Given the description of an element on the screen output the (x, y) to click on. 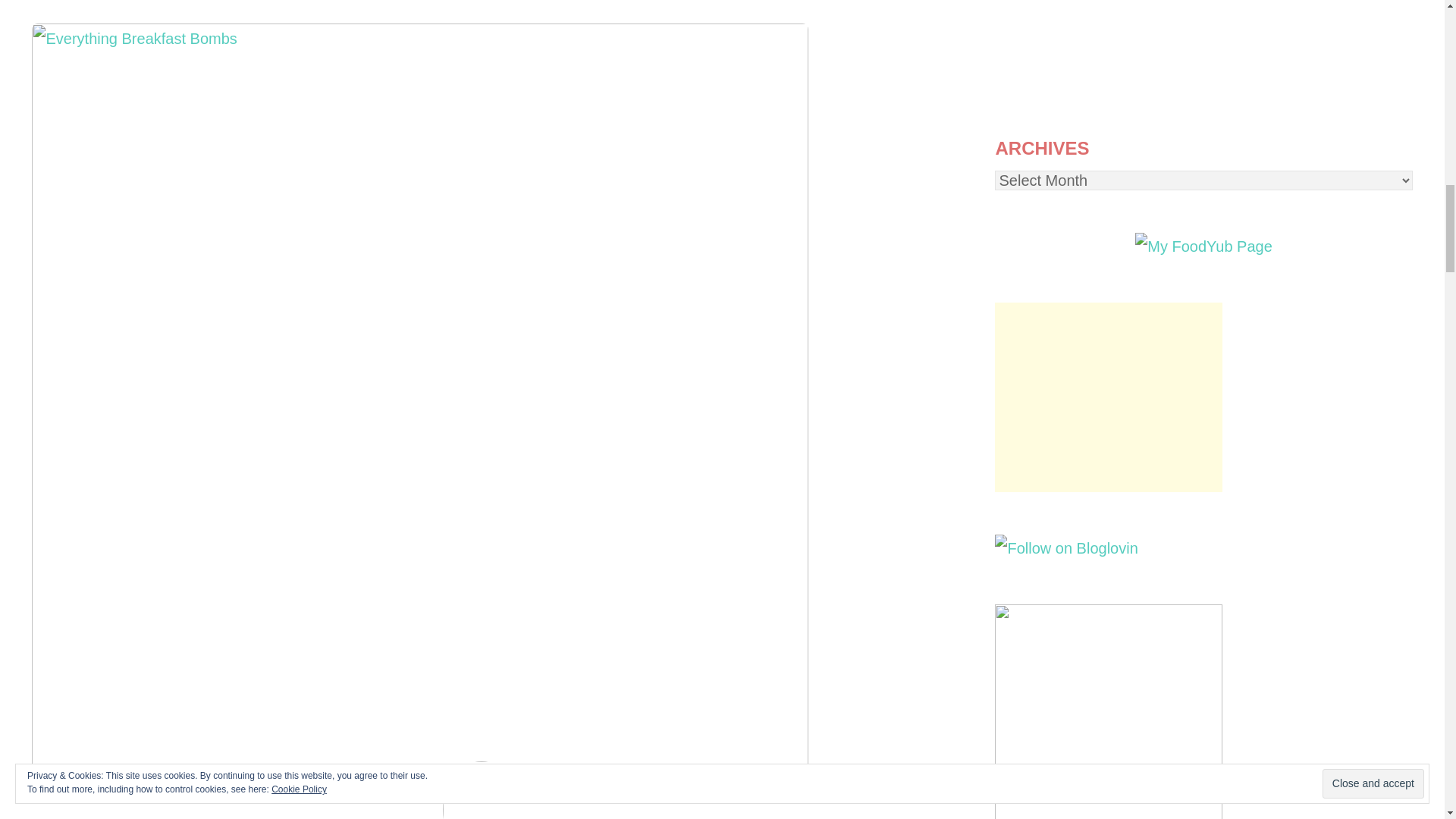
Follow Jeanie and Lulu's Kitchen on Bloglovin (1065, 547)
My FoodYub Page (1203, 246)
